Given the description of an element on the screen output the (x, y) to click on. 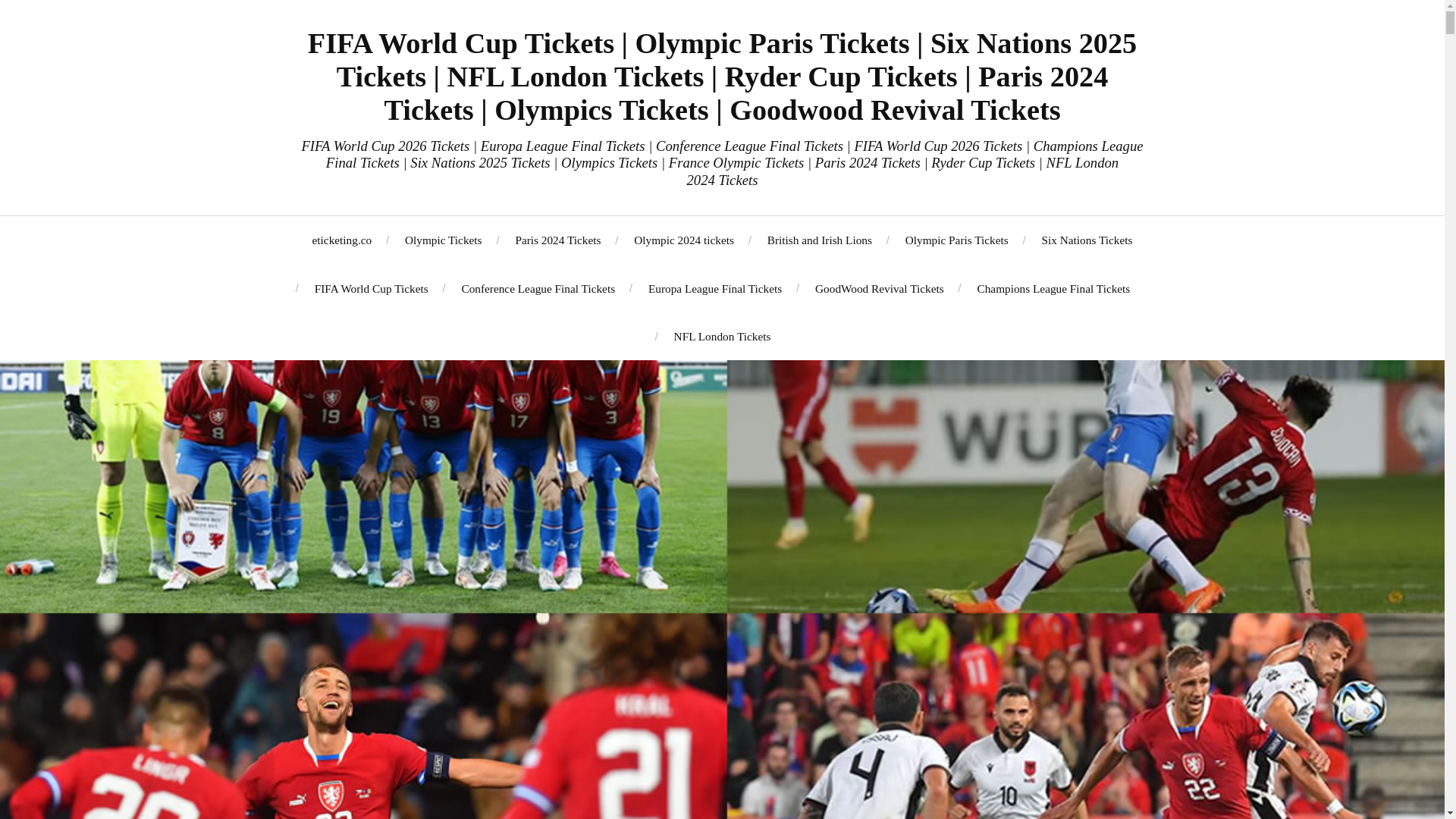
eticketing.co (342, 239)
Champions League Final Tickets (1052, 288)
Paris 2024 Tickets (557, 239)
Olympic Tickets (442, 239)
Olympic Paris Tickets (957, 239)
Europa League Final Tickets (714, 288)
Six Nations Tickets (1087, 239)
Conference League Final Tickets (537, 288)
NFL London Tickets (722, 336)
GoodWood Revival Tickets (879, 288)
British and Irish Lions (819, 239)
Olympic 2024 tickets (683, 239)
FIFA World Cup Tickets (371, 288)
